Given the description of an element on the screen output the (x, y) to click on. 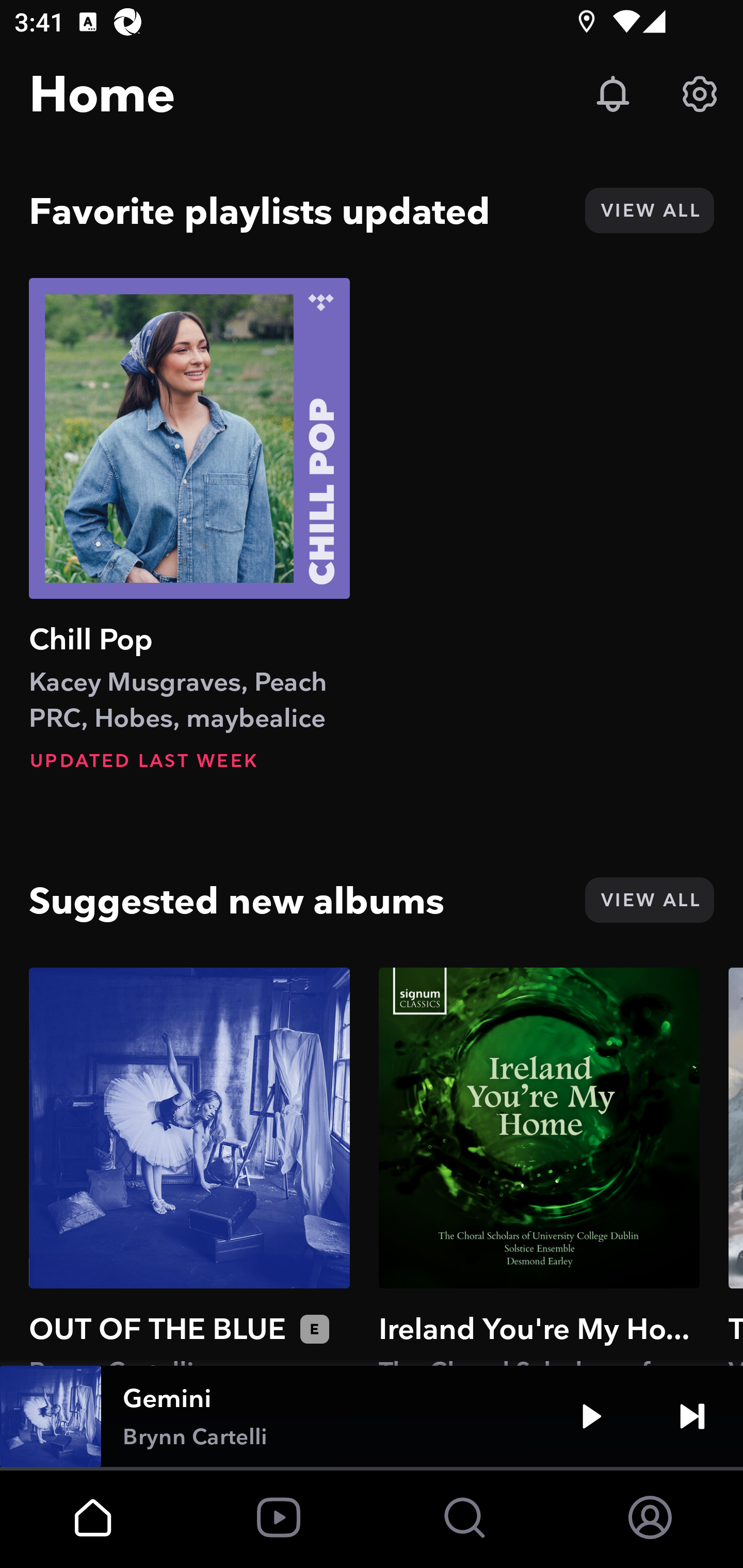
Updates (612, 93)
Settings (699, 93)
VIEW ALL (649, 210)
VIEW ALL (649, 899)
OUT OF THE BLUE Brynn Cartelli (188, 1166)
Gemini Brynn Cartelli Play (371, 1416)
Play (590, 1416)
